Given the description of an element on the screen output the (x, y) to click on. 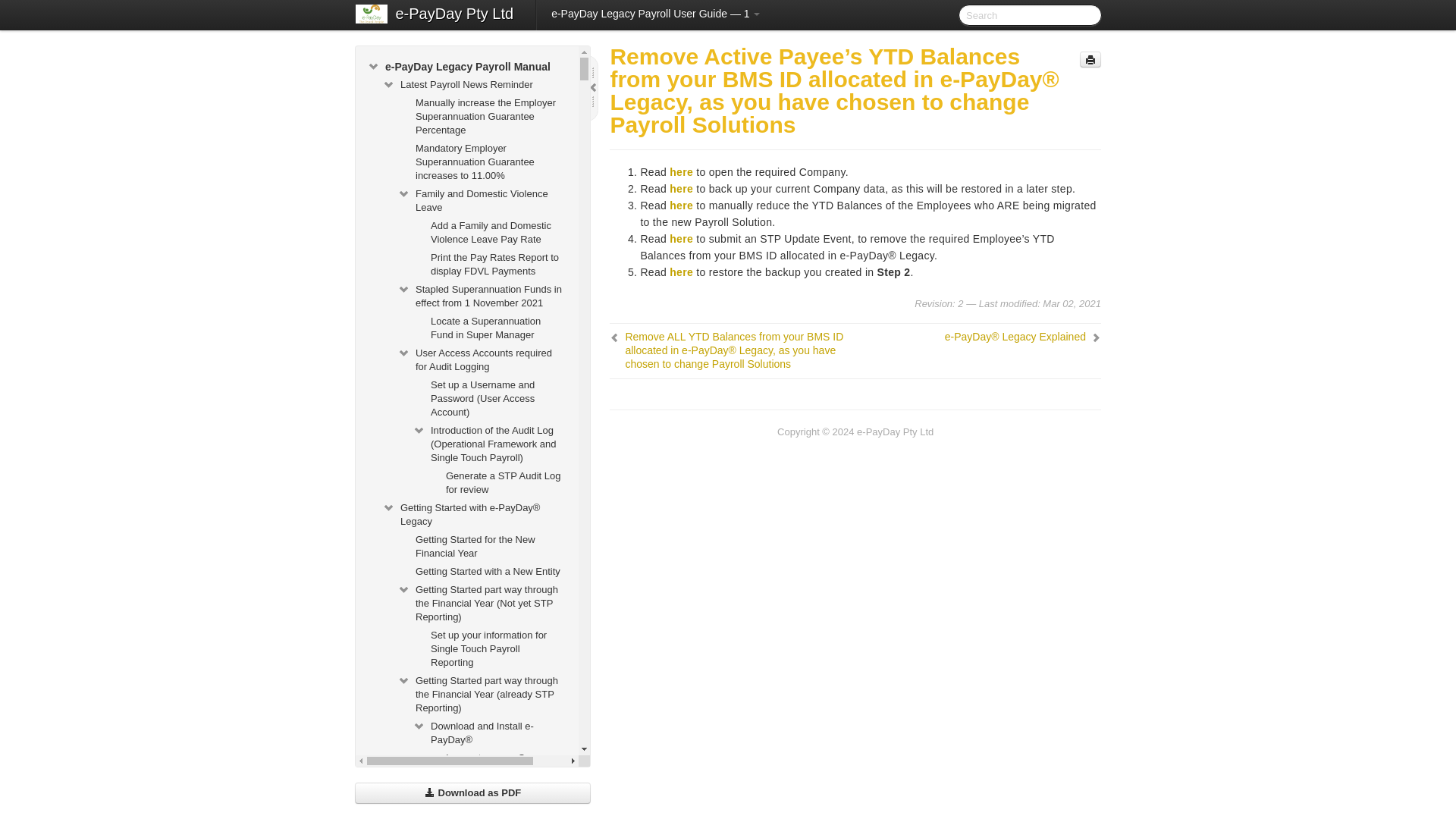
Print page (1090, 59)
e-PayDay Pty Ltd (454, 15)
